Given the description of an element on the screen output the (x, y) to click on. 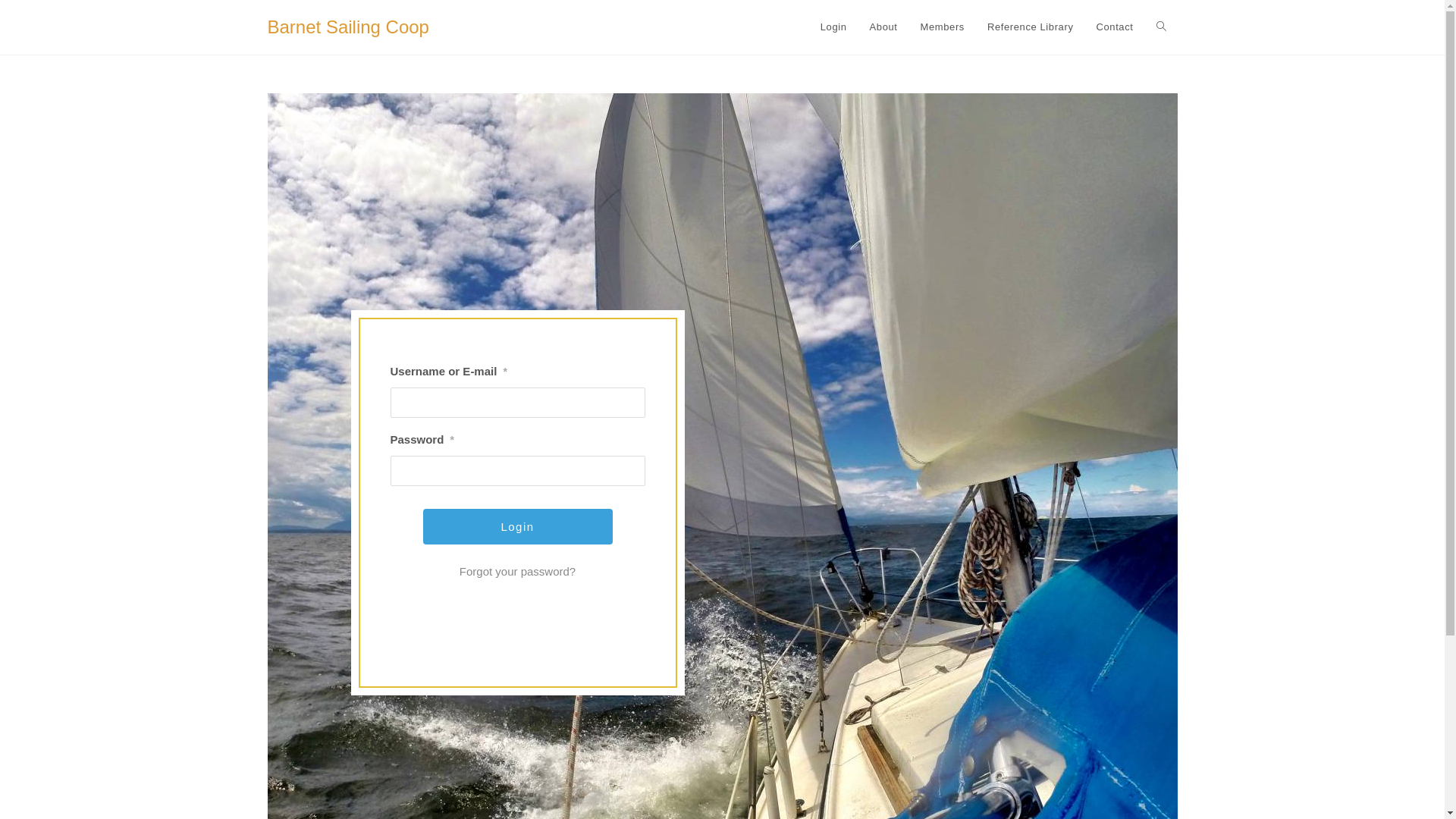
Reference Library Element type: text (1030, 27)
Forgot your password? Element type: text (516, 571)
Login Element type: text (517, 526)
Members Element type: text (942, 27)
About Element type: text (883, 27)
Barnet Sailing Coop Element type: text (347, 26)
Login Element type: text (833, 27)
Contact Element type: text (1114, 27)
